Given the description of an element on the screen output the (x, y) to click on. 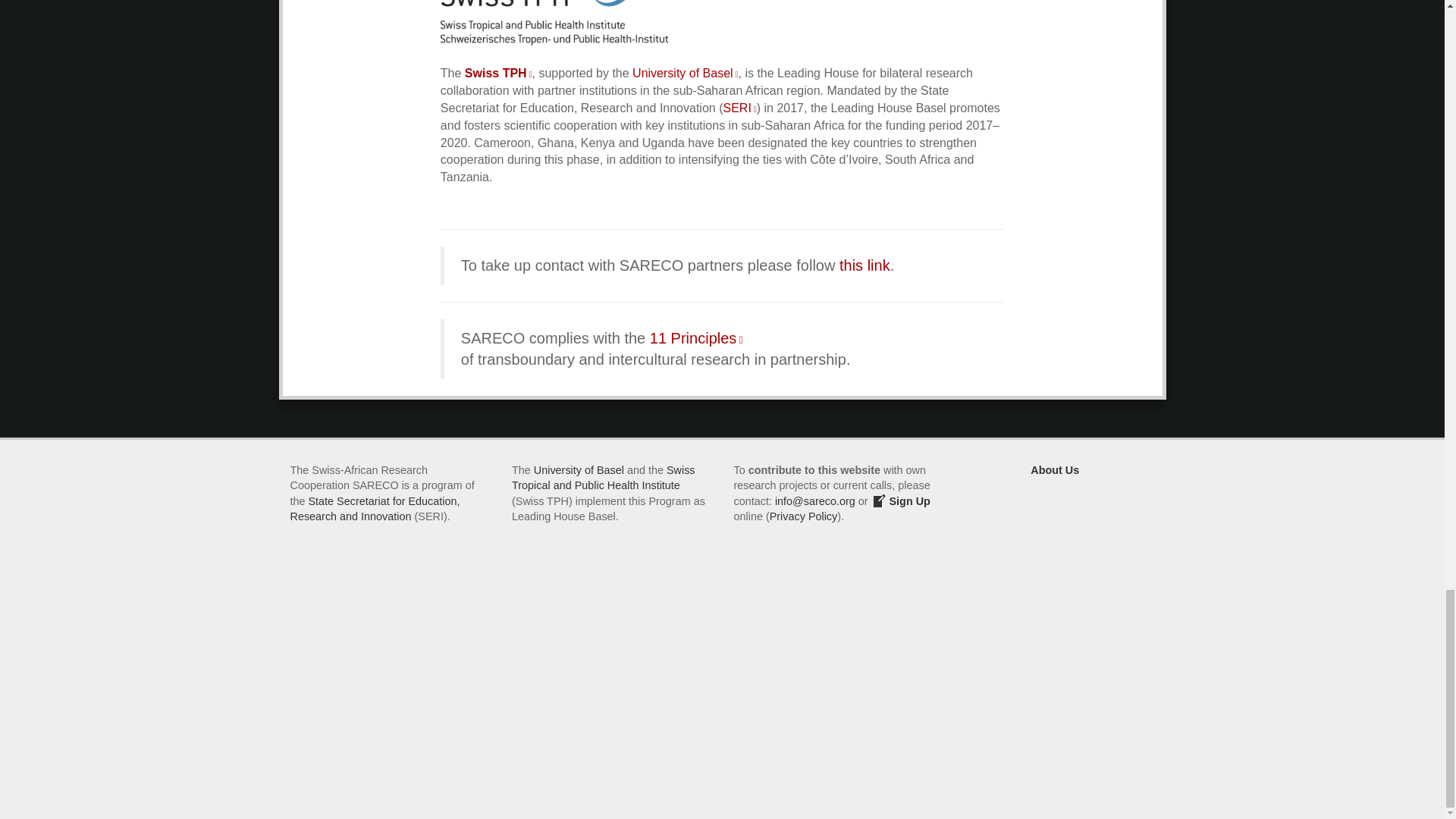
Opens external link in new window (738, 107)
